Given the description of an element on the screen output the (x, y) to click on. 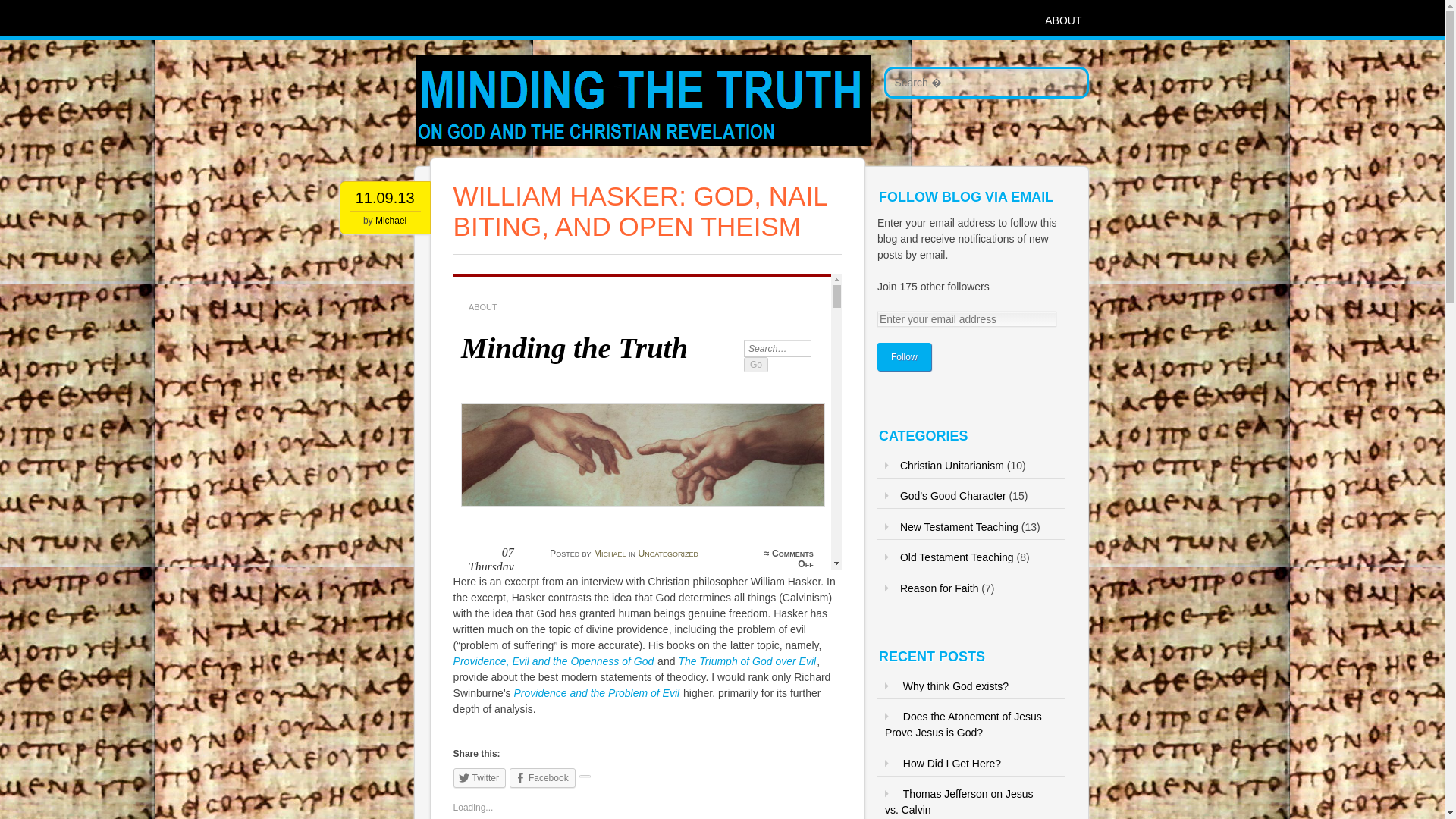
God's Good Character (952, 495)
Skip to content (388, 20)
View all posts by Michael (390, 220)
Share on Facebook (542, 777)
Follow (904, 357)
Providence, Evil and the Openness of God (552, 661)
New Testament Teaching (958, 526)
How Did I Get Here? (951, 763)
Facebook (542, 777)
Minding The Truth (587, 169)
